Given the description of an element on the screen output the (x, y) to click on. 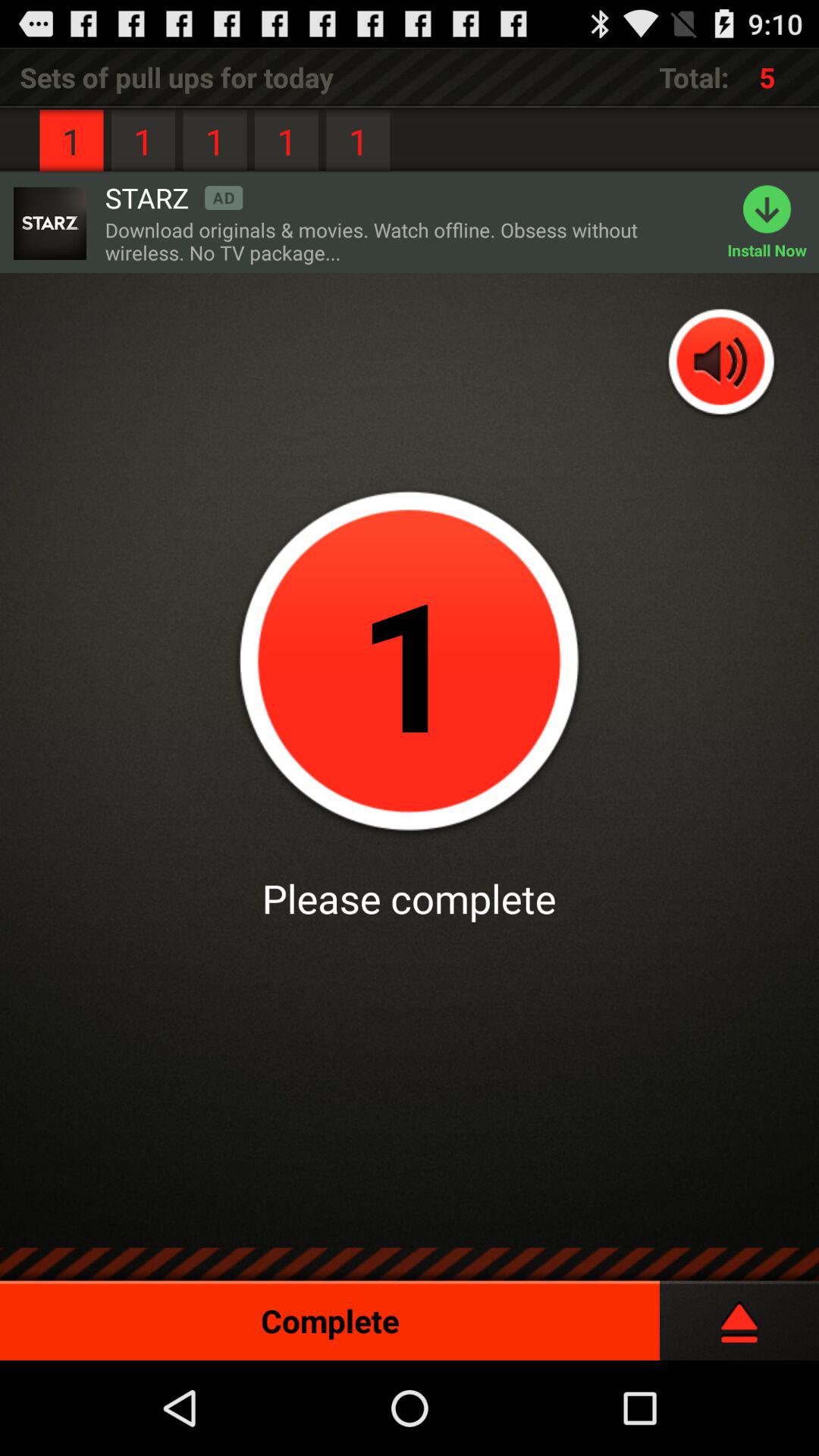
turn off item to the left of the 1 (173, 197)
